Given the description of an element on the screen output the (x, y) to click on. 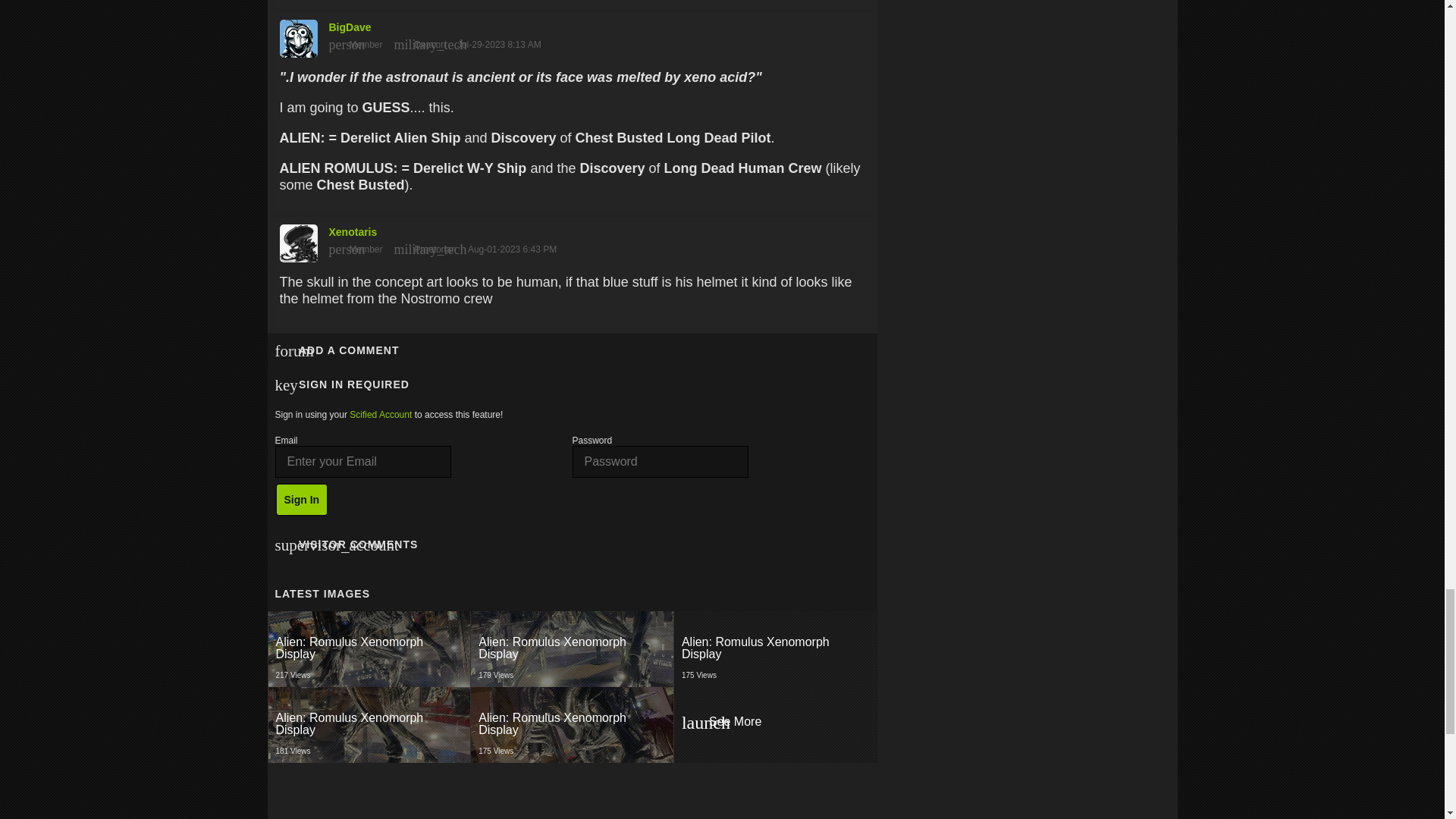
See More (368, 648)
See More (774, 724)
Xenotaris (572, 724)
Sign In (774, 648)
Scified Account (774, 724)
BigDave (571, 239)
